Given the description of an element on the screen output the (x, y) to click on. 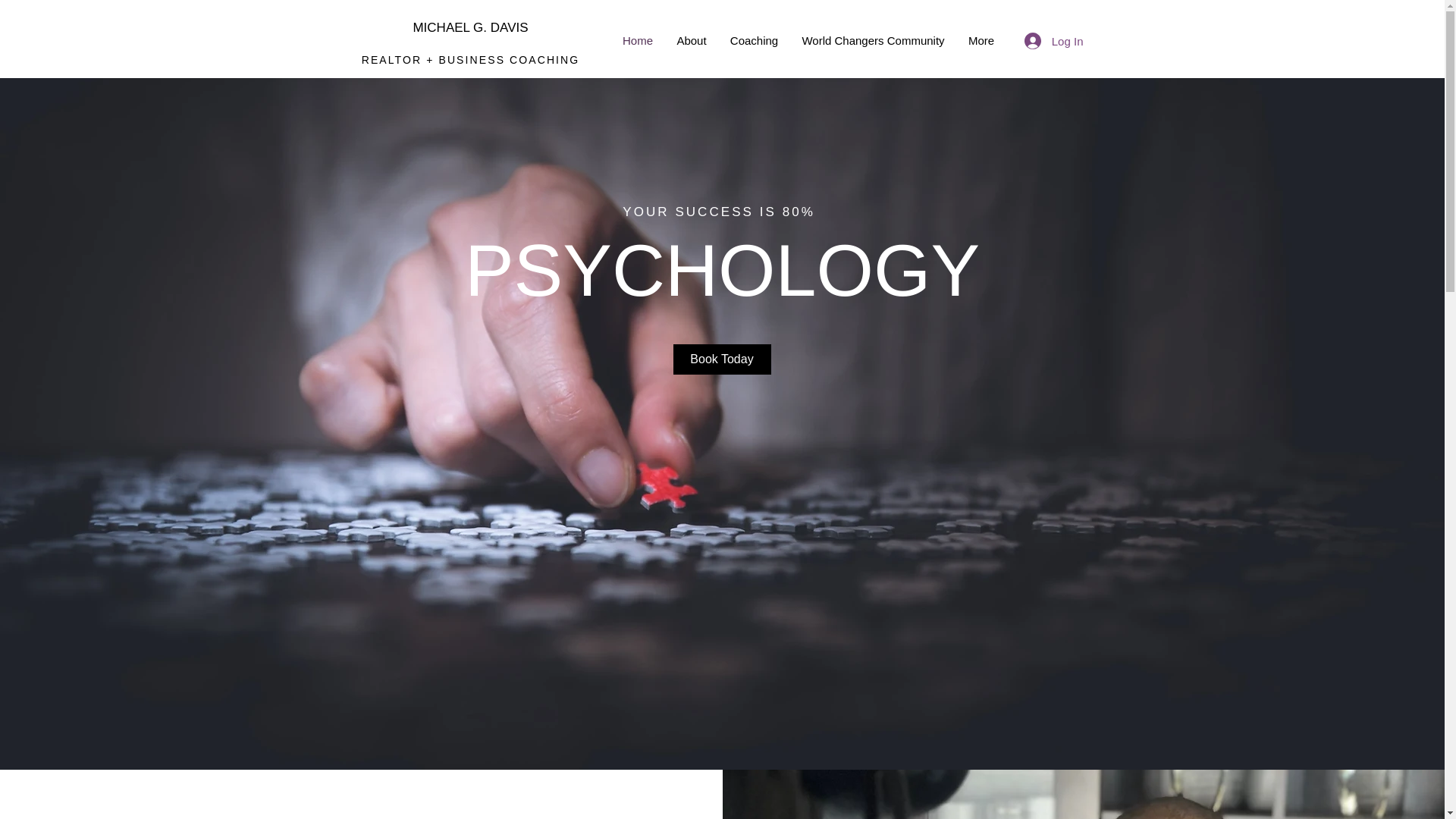
Home (638, 40)
Coaching (754, 40)
About (690, 40)
Log In (1053, 40)
MICHAEL G. DAVIS (469, 27)
World Changers Community (873, 40)
Book Today (721, 358)
